Given the description of an element on the screen output the (x, y) to click on. 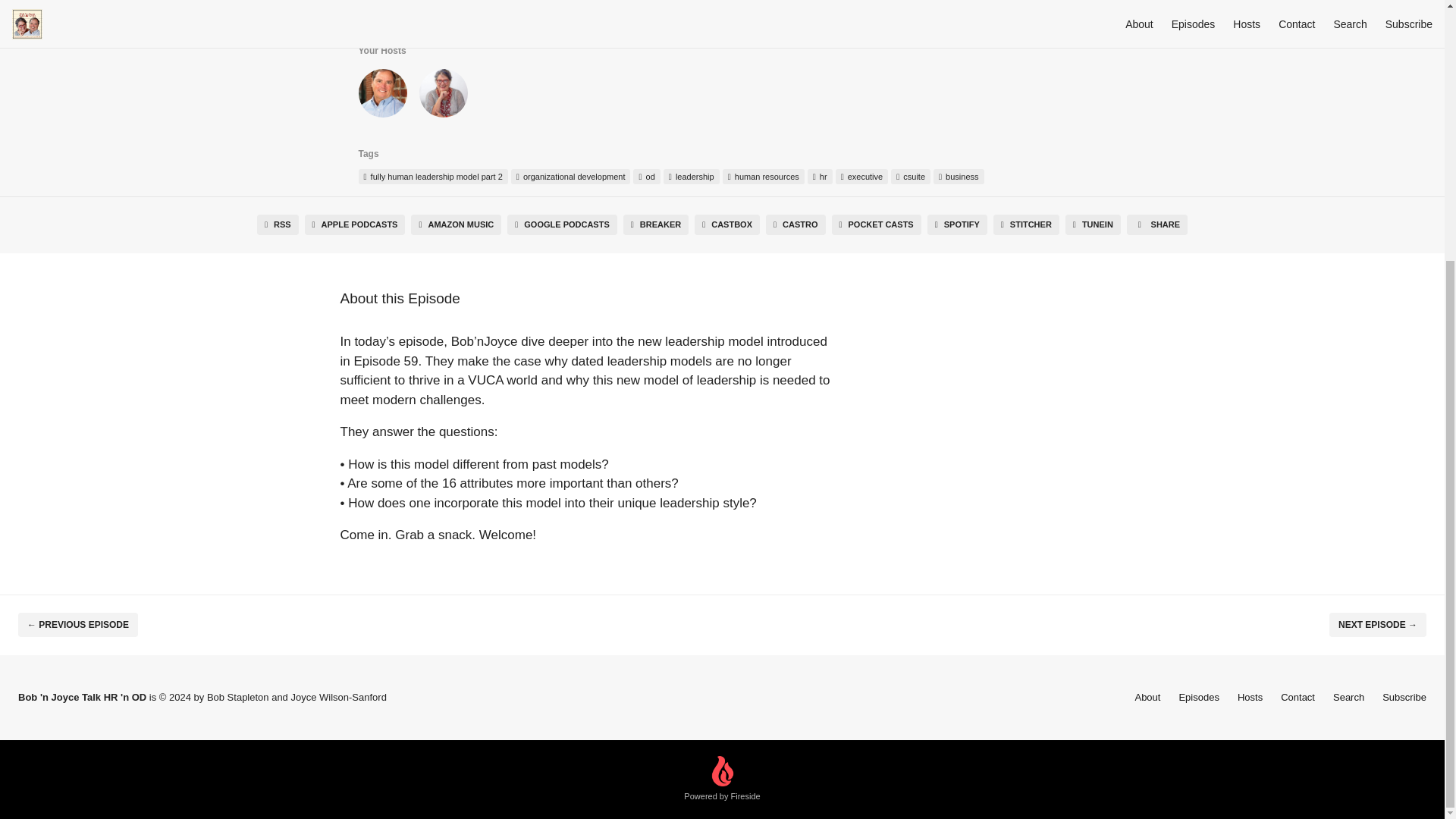
APPLE PODCASTS (355, 224)
human resources (763, 176)
executive (861, 176)
csuite (910, 176)
GOOGLE PODCASTS (561, 224)
organizational development (570, 176)
hr (820, 176)
Bob Stapleton (382, 95)
business (958, 176)
RSS (277, 224)
fully human leadership model part 2 (432, 176)
leadership (691, 176)
Powered by Fireside (722, 779)
BREAKER (655, 224)
AMAZON MUSIC (455, 224)
